Given the description of an element on the screen output the (x, y) to click on. 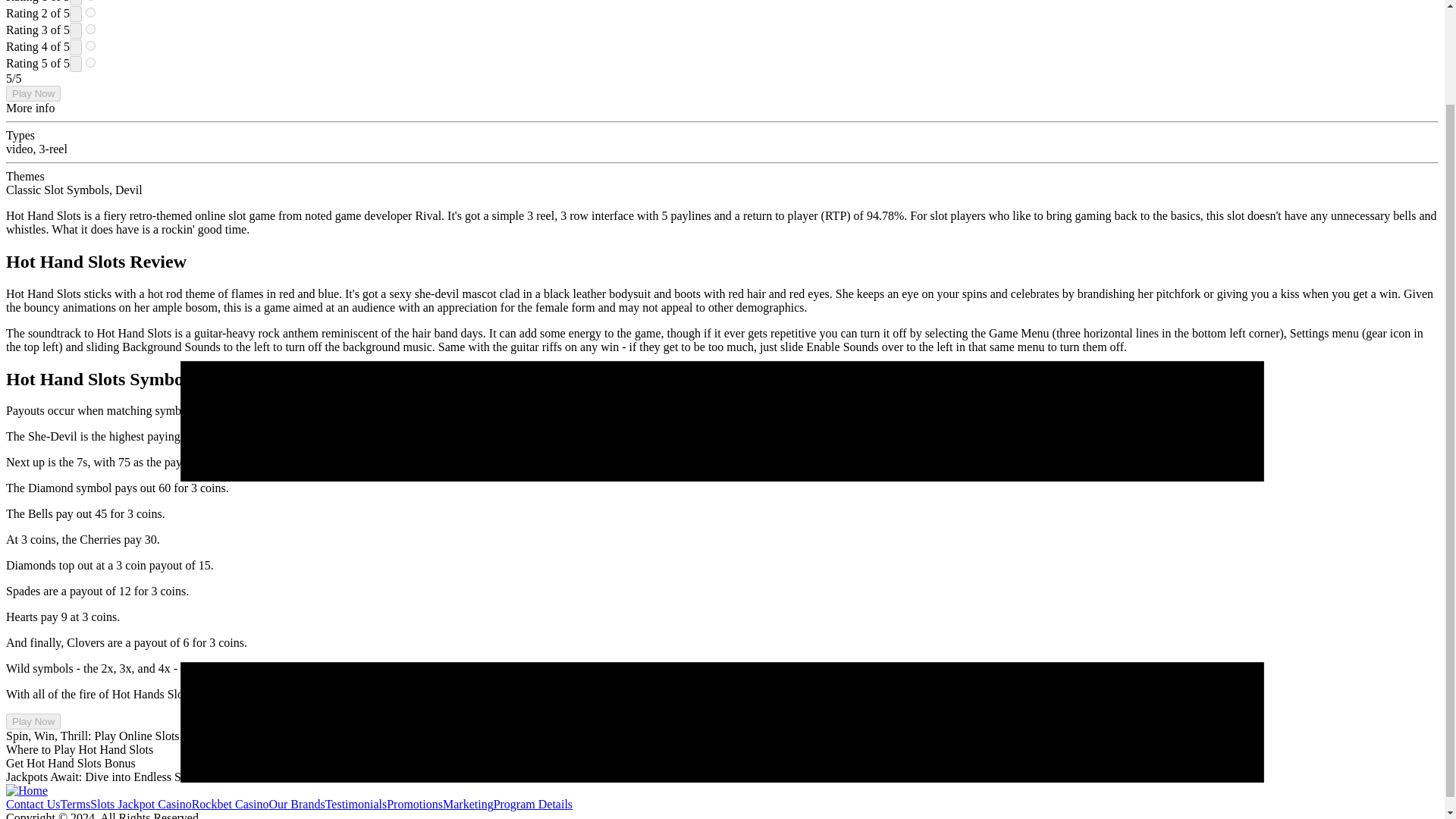
Promotions (414, 803)
Program Details (532, 803)
Marketing (467, 803)
Our Brands (295, 803)
5 (90, 62)
3 (90, 29)
Contact Us (33, 803)
Testimonials (355, 803)
Play Now (33, 721)
Play Now (33, 93)
Terms (75, 803)
2 (90, 12)
Rockbet Casino (230, 803)
Slots Jackpot Casino (140, 803)
